Given the description of an element on the screen output the (x, y) to click on. 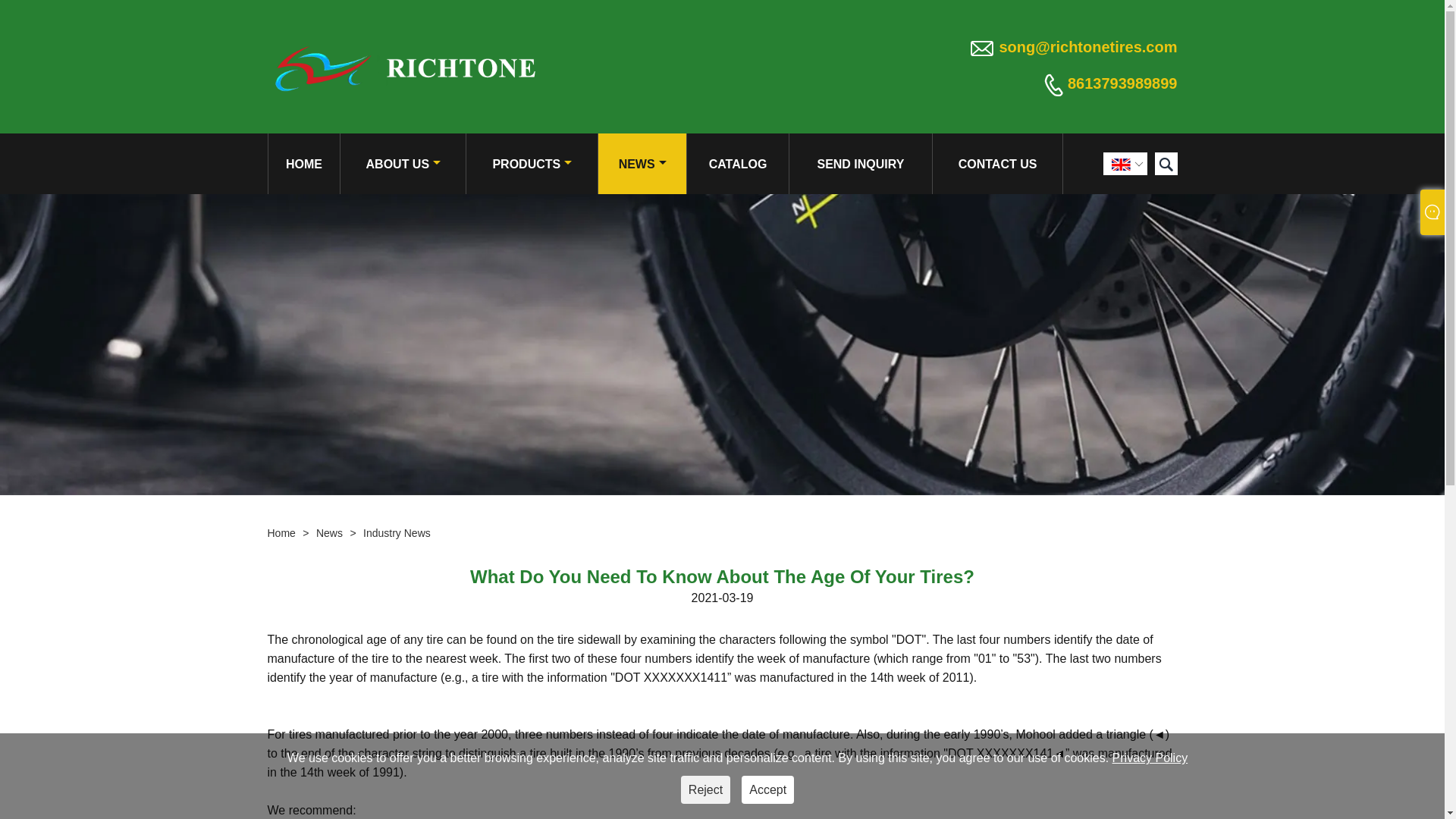
8613793989899 (1122, 83)
English (1121, 164)
8613793989899 (1122, 83)
